Given the description of an element on the screen output the (x, y) to click on. 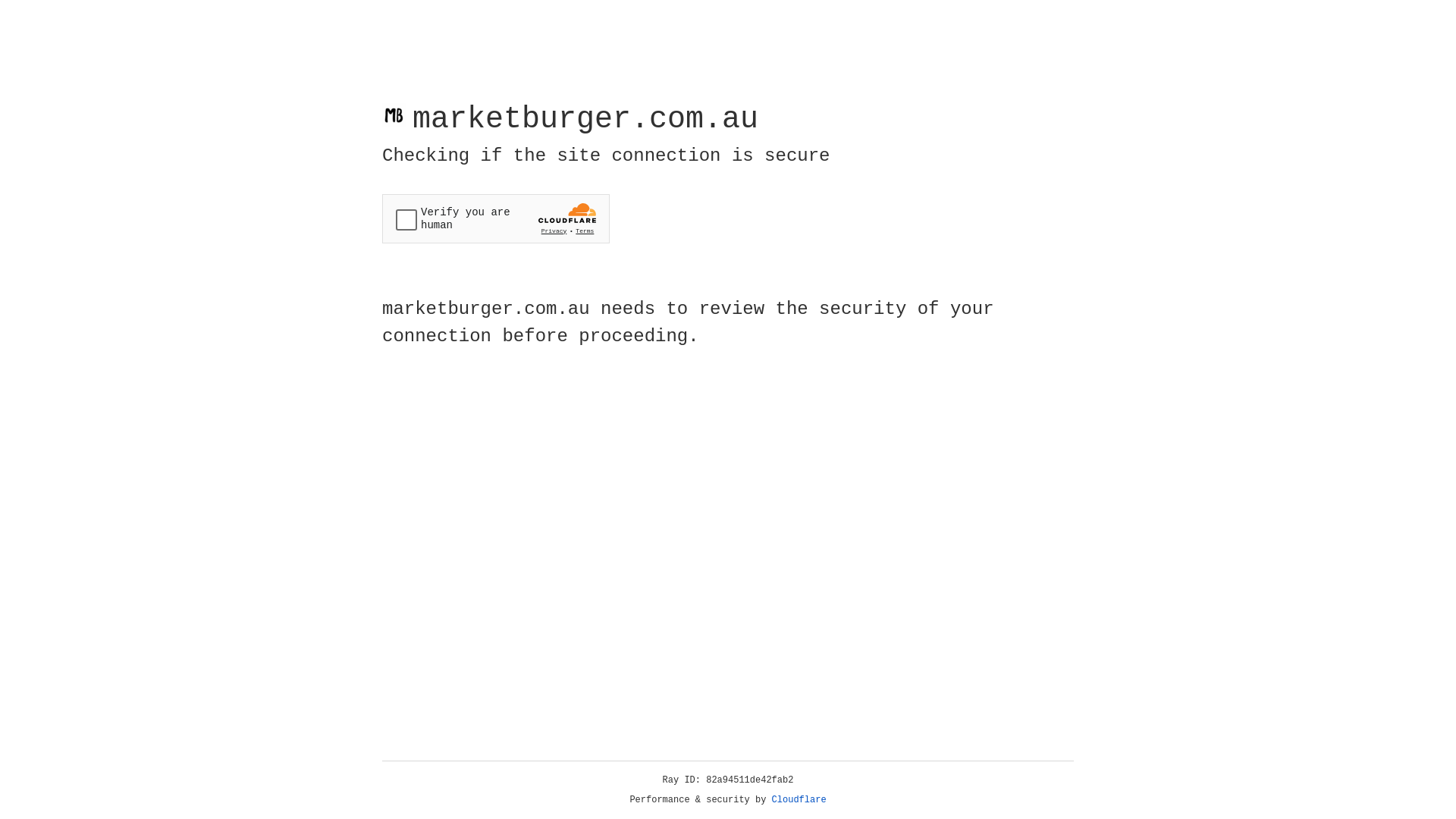
Widget containing a Cloudflare security challenge Element type: hover (495, 218)
Cloudflare Element type: text (798, 799)
